Given the description of an element on the screen output the (x, y) to click on. 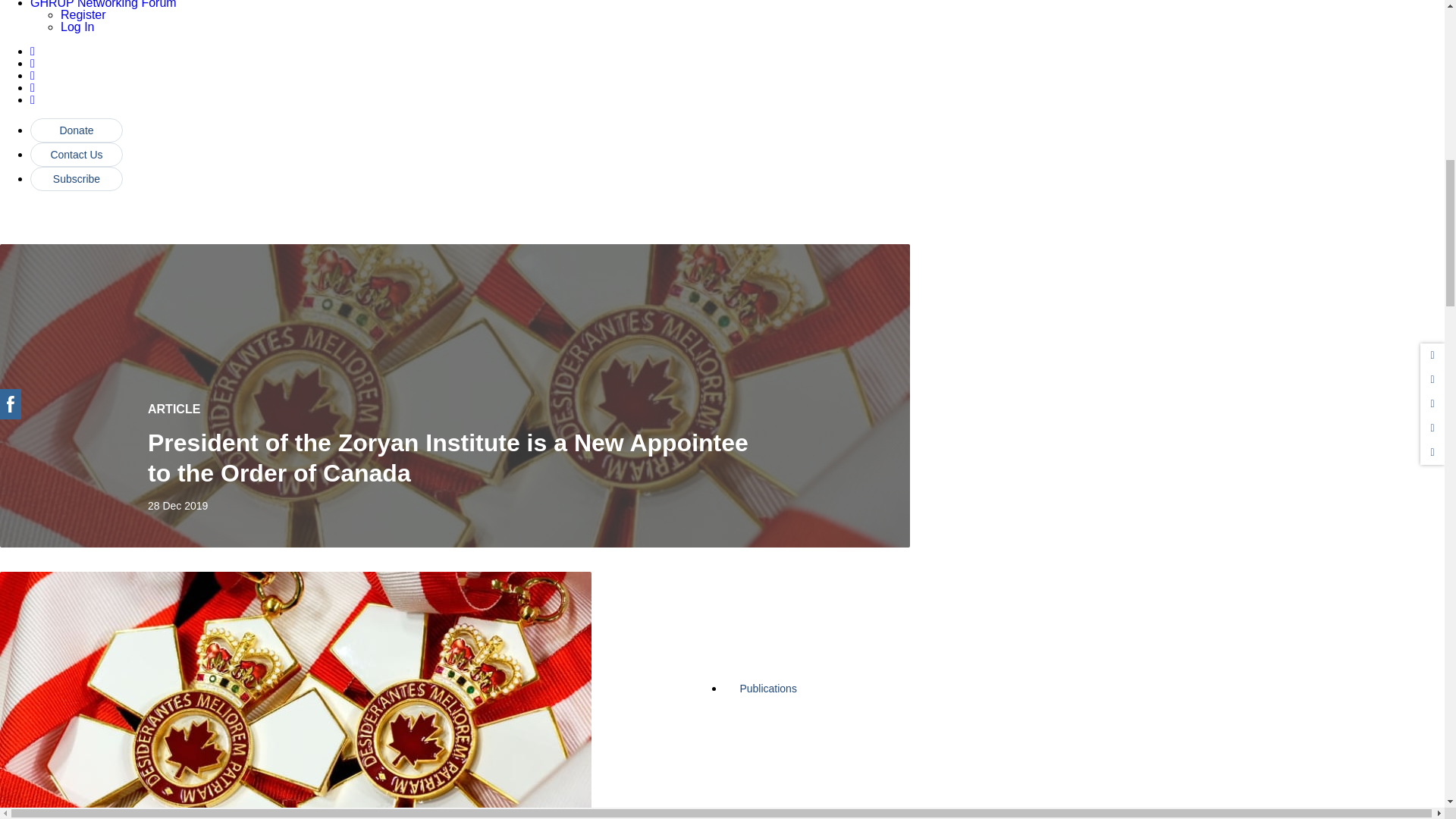
About Us (808, 531)
